Given the description of an element on the screen output the (x, y) to click on. 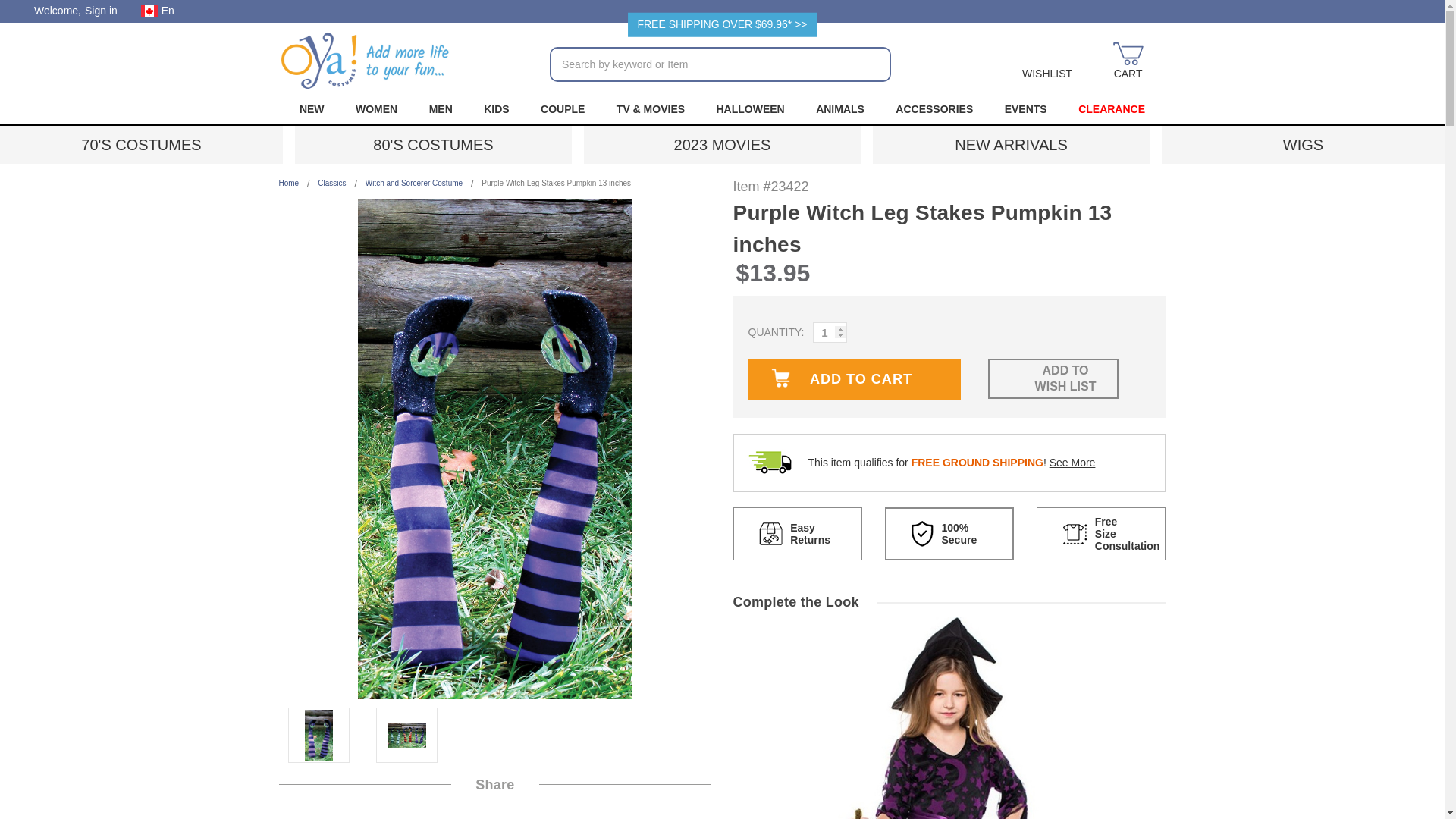
Oya Costumes (365, 61)
Sign in (100, 10)
1 (829, 332)
WISHLIST (1047, 61)
CART (1128, 61)
Wishlist (1047, 61)
En (162, 11)
WOMEN (376, 109)
NEW (311, 109)
Add to Cart (853, 378)
